Given the description of an element on the screen output the (x, y) to click on. 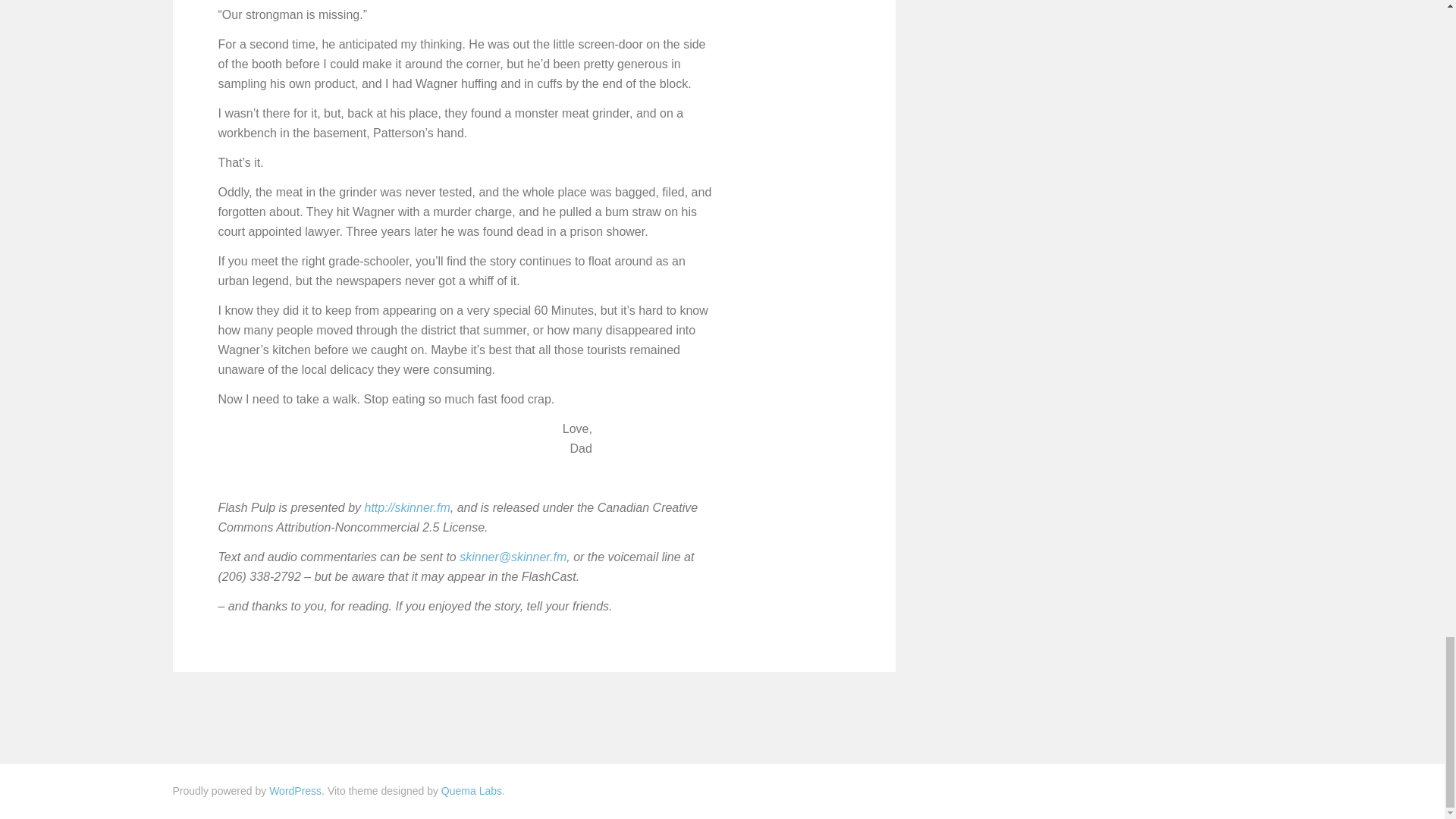
Quema Labs (471, 790)
WordPress (295, 790)
